Given the description of an element on the screen output the (x, y) to click on. 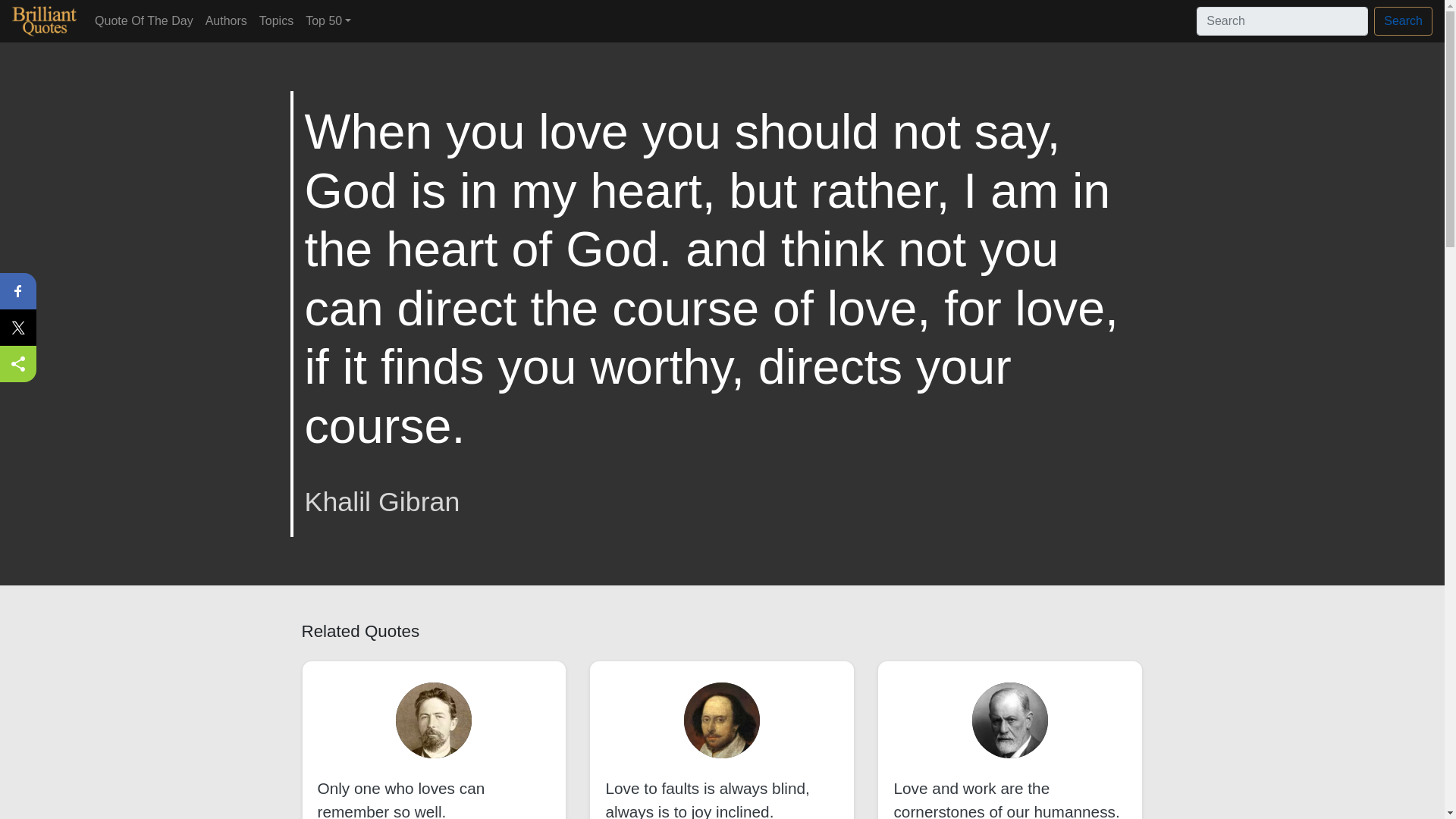
Only one who loves can remember so well. (400, 799)
Top 50 (327, 20)
Search (1403, 21)
Authors (226, 20)
Quote Of The Day (143, 20)
Love and work are the cornerstones of our humanness. (1006, 799)
Topics (276, 20)
